Given the description of an element on the screen output the (x, y) to click on. 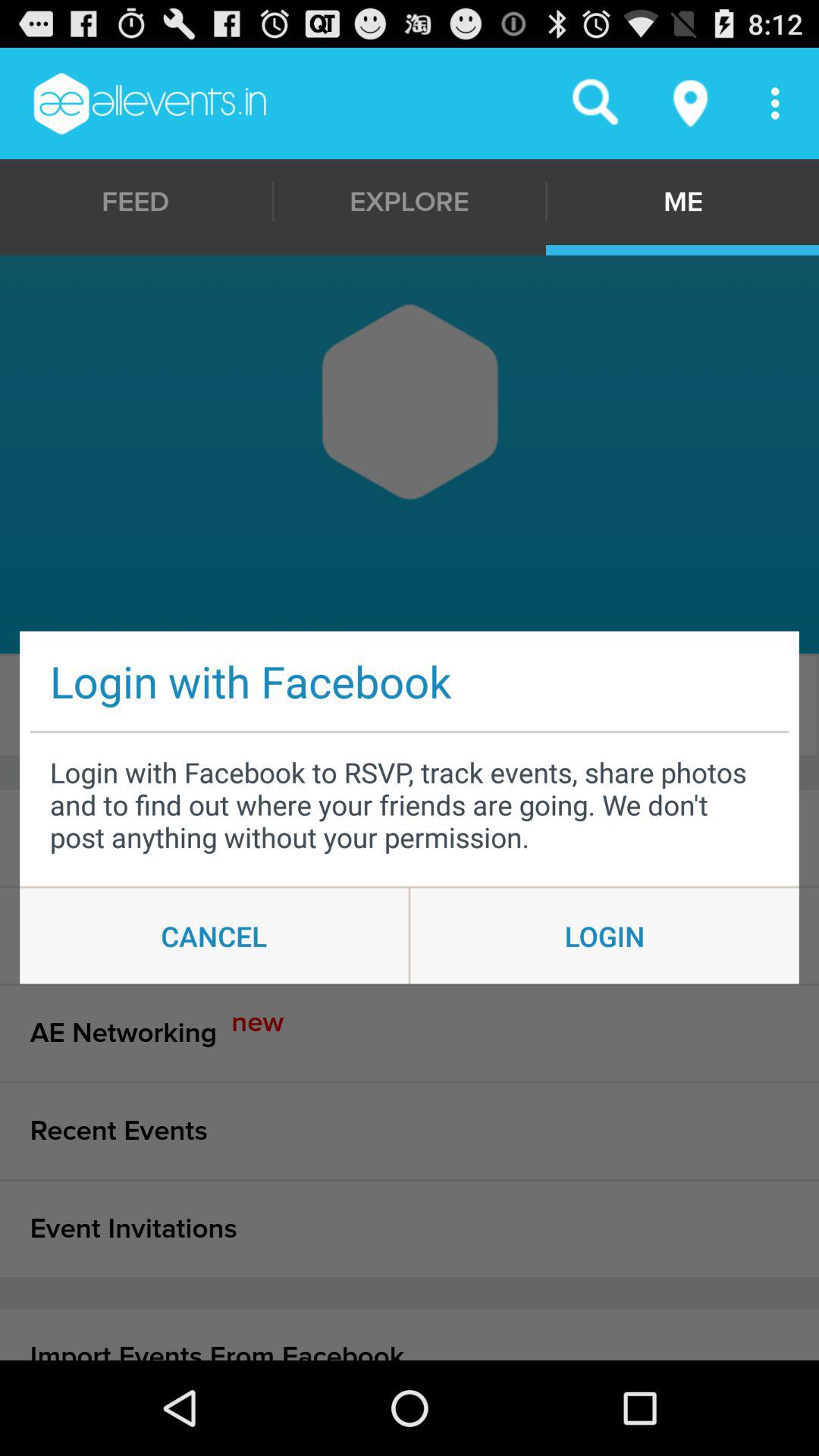
scroll until import events from (409, 1334)
